Given the description of an element on the screen output the (x, y) to click on. 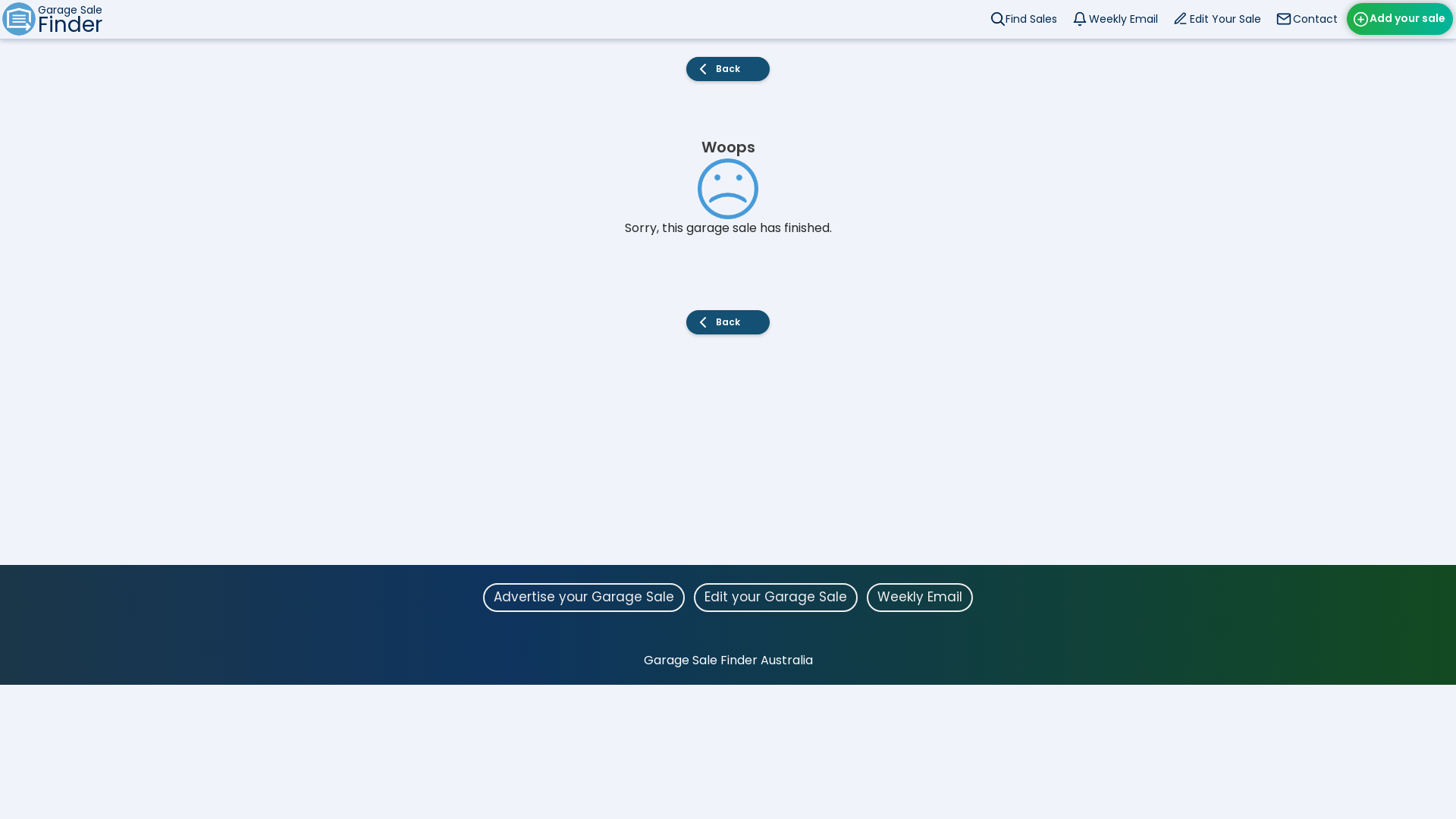
Advertisement Element type: hover (728, 458)
Back Element type: text (727, 68)
Find Sales Element type: text (1024, 18)
Weekly Email Element type: text (1116, 18)
Edit Your Sale Element type: text (1218, 18)
Back Element type: text (727, 322)
Contact Element type: text (1308, 18)
Advertise your Garage Sale Element type: text (583, 597)
Add your sale Element type: text (1399, 18)
Edit your Garage Sale Element type: text (775, 597)
Weekly Email Element type: text (919, 597)
